Given the description of an element on the screen output the (x, y) to click on. 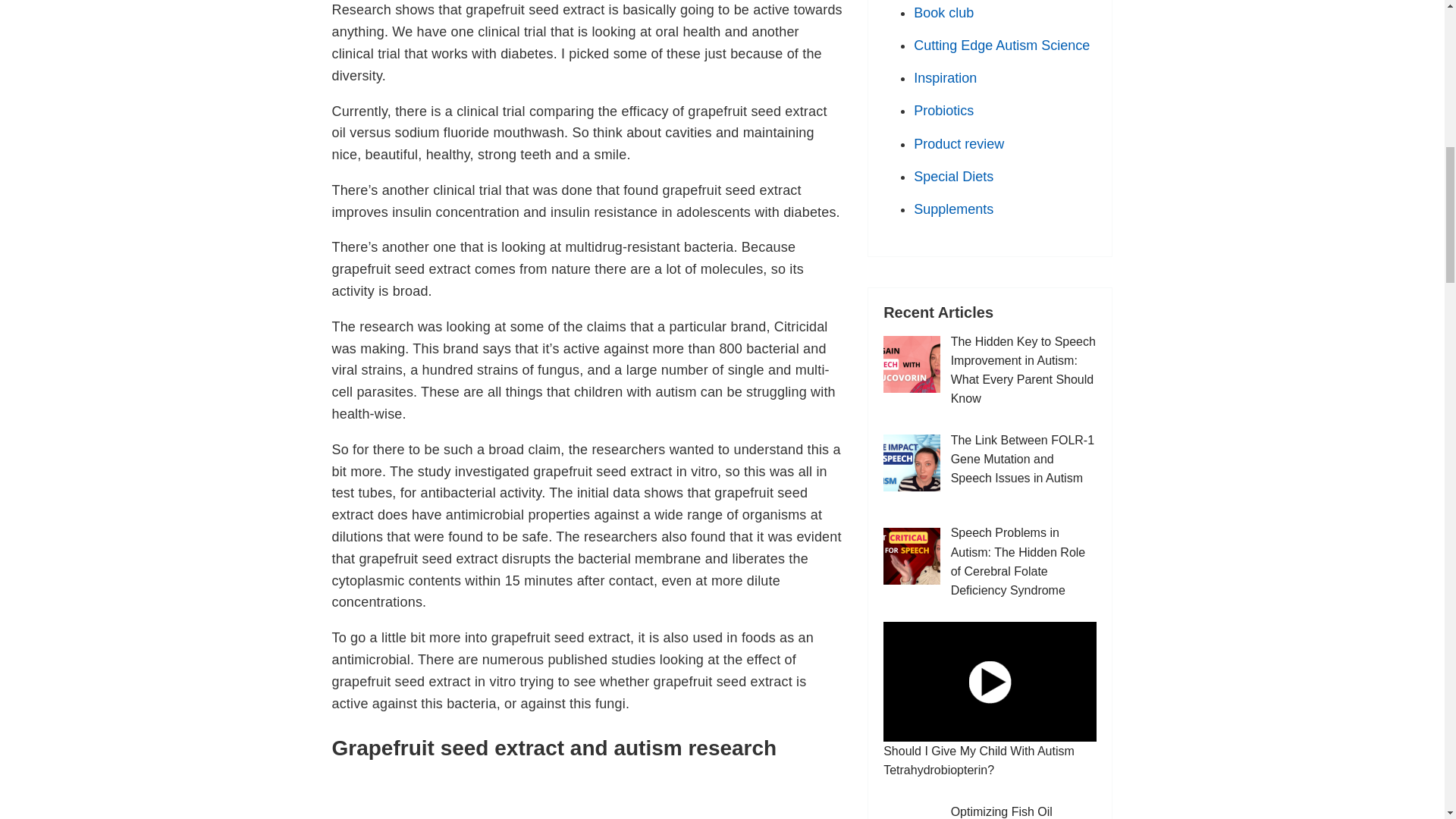
Should I Give My Child With Autism Tetrahydrobiopterin? (989, 681)
Supplements (953, 209)
Special Diets (953, 176)
Book club (944, 12)
Cutting Edge Autism Science (1001, 45)
Inspiration (945, 77)
Probiotics (944, 110)
Product review (959, 143)
